Given the description of an element on the screen output the (x, y) to click on. 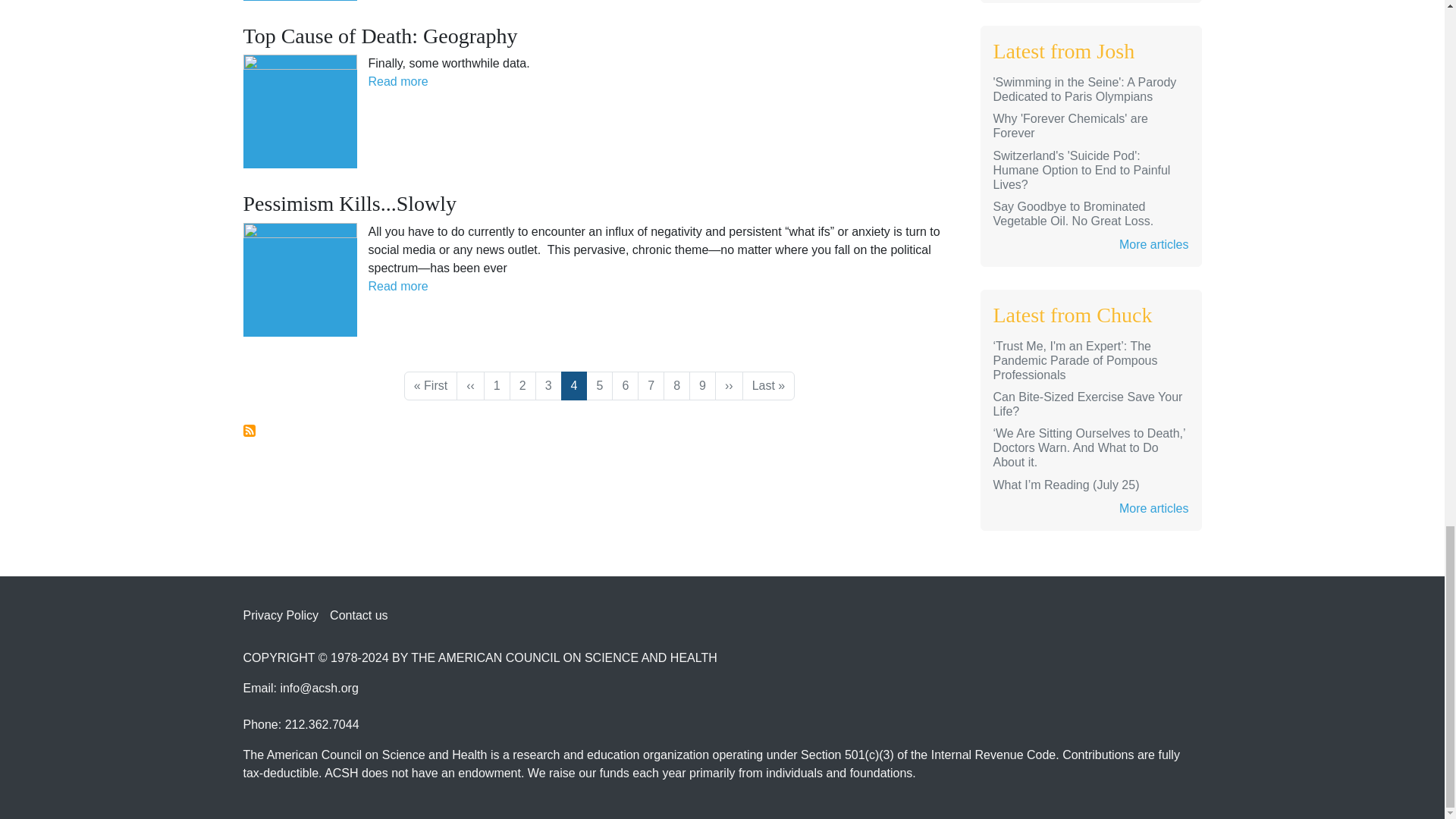
Go to page 2 (522, 385)
Go to first page (430, 385)
Go to last page (768, 385)
Go to page 7 (650, 385)
Go to next page (728, 385)
Go to page 6 (625, 385)
Go to page 1 (497, 385)
Go to page 8 (676, 385)
Go to page 5 (599, 385)
Current page (574, 385)
Go to previous page (470, 385)
Go to page 9 (702, 385)
Go to page 3 (548, 385)
